Given the description of an element on the screen output the (x, y) to click on. 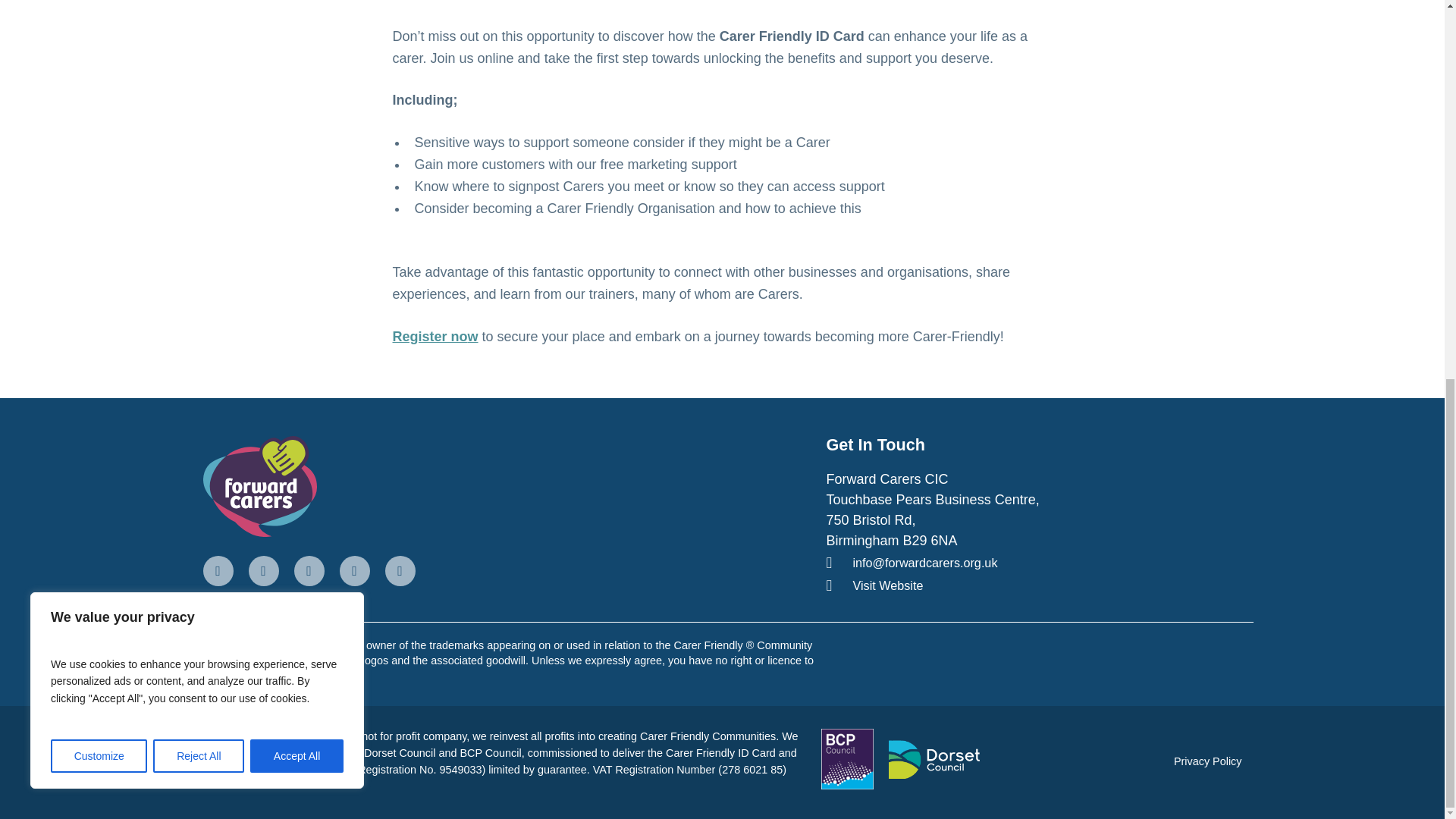
Accept All (296, 53)
Customize (98, 53)
Register no (430, 336)
Reject All (198, 53)
